Given the description of an element on the screen output the (x, y) to click on. 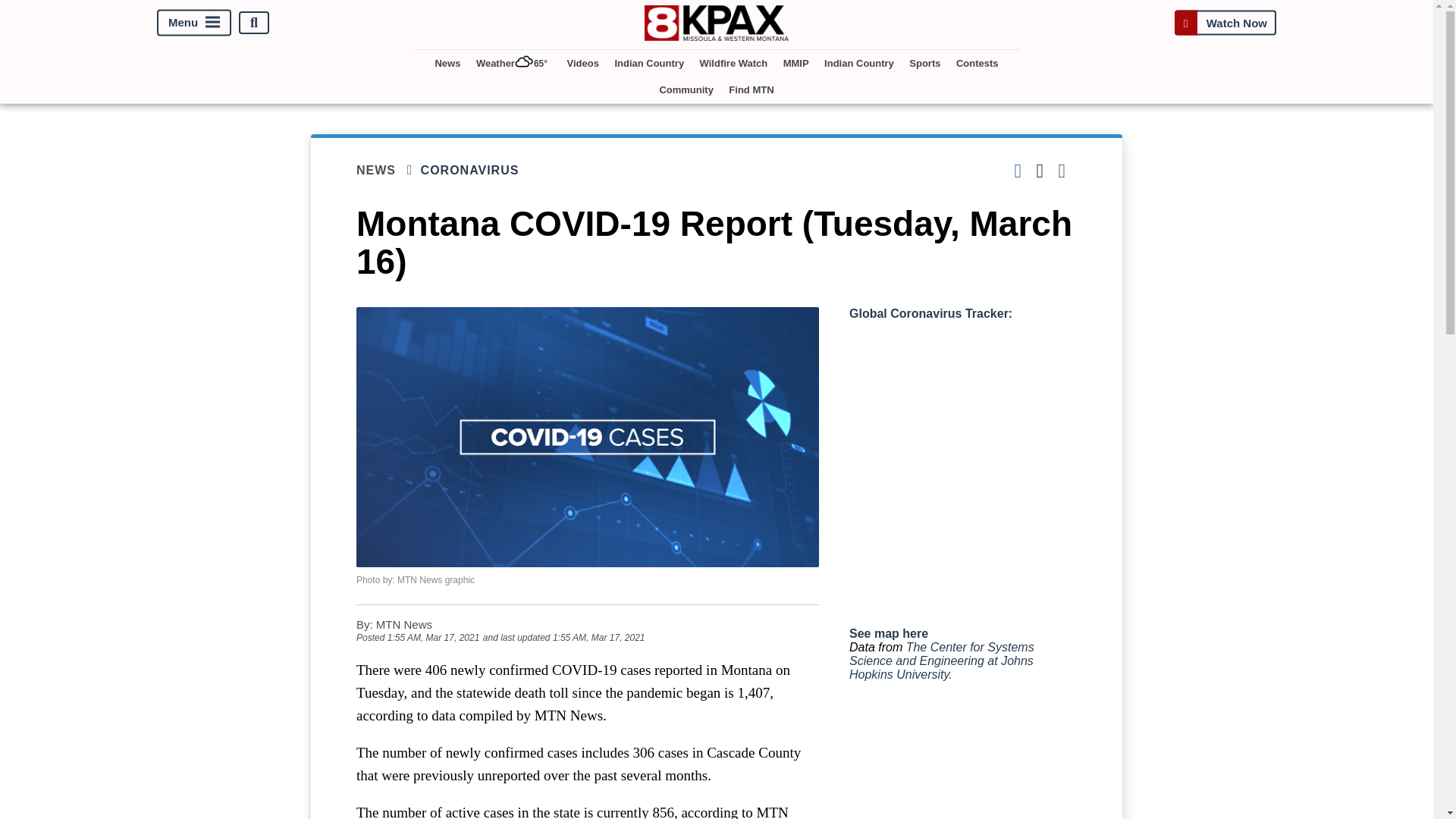
Menu (194, 22)
Watch Now (1224, 22)
